Given the description of an element on the screen output the (x, y) to click on. 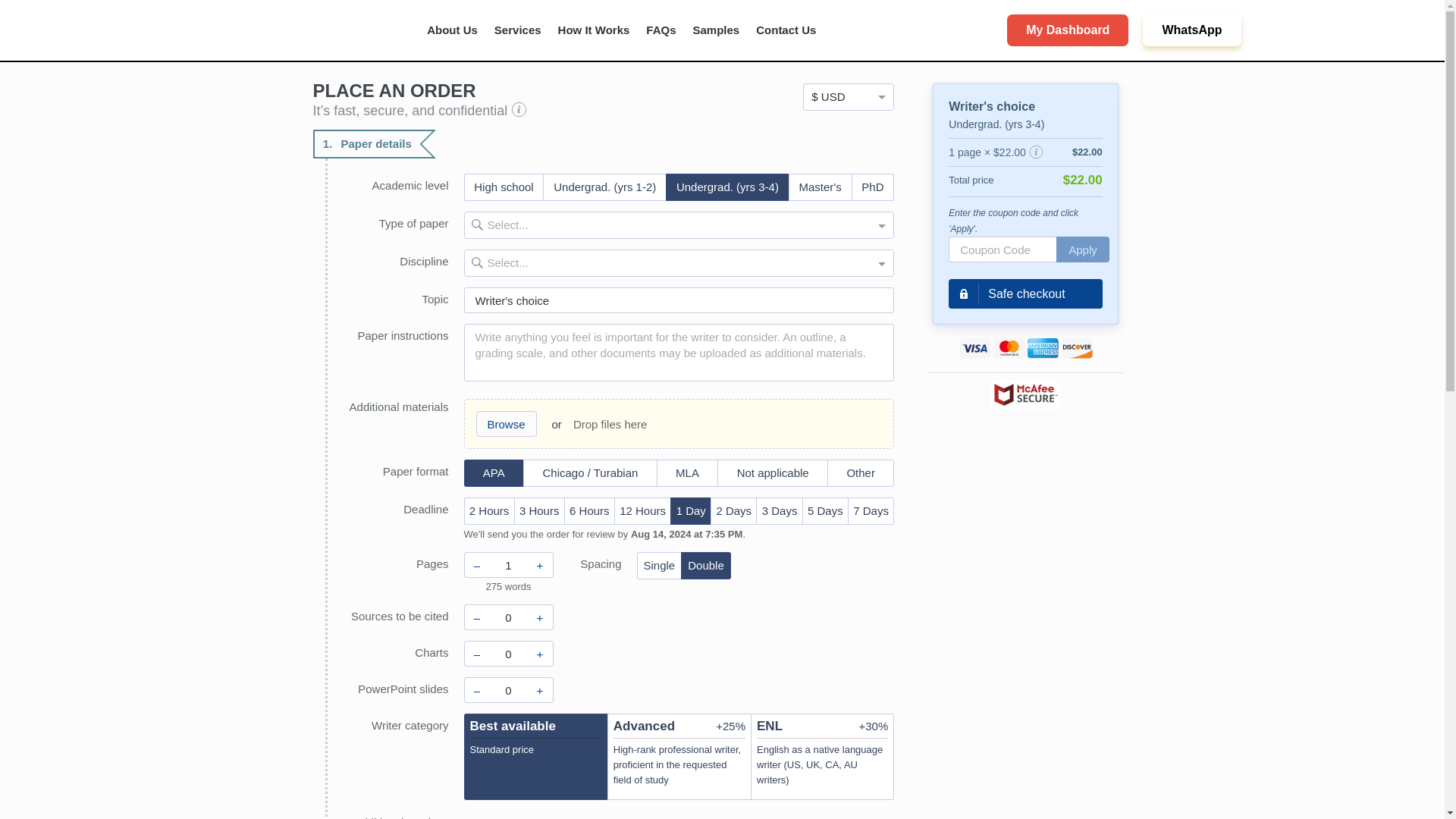
0 (508, 616)
Master's (820, 186)
Services (518, 30)
Samples (716, 30)
United States Dollars	 (848, 96)
McAfee SECURE (1024, 394)
How It Works (593, 30)
1 Day (689, 510)
7 Days (870, 510)
My Dashboard (1067, 29)
